Given the description of an element on the screen output the (x, y) to click on. 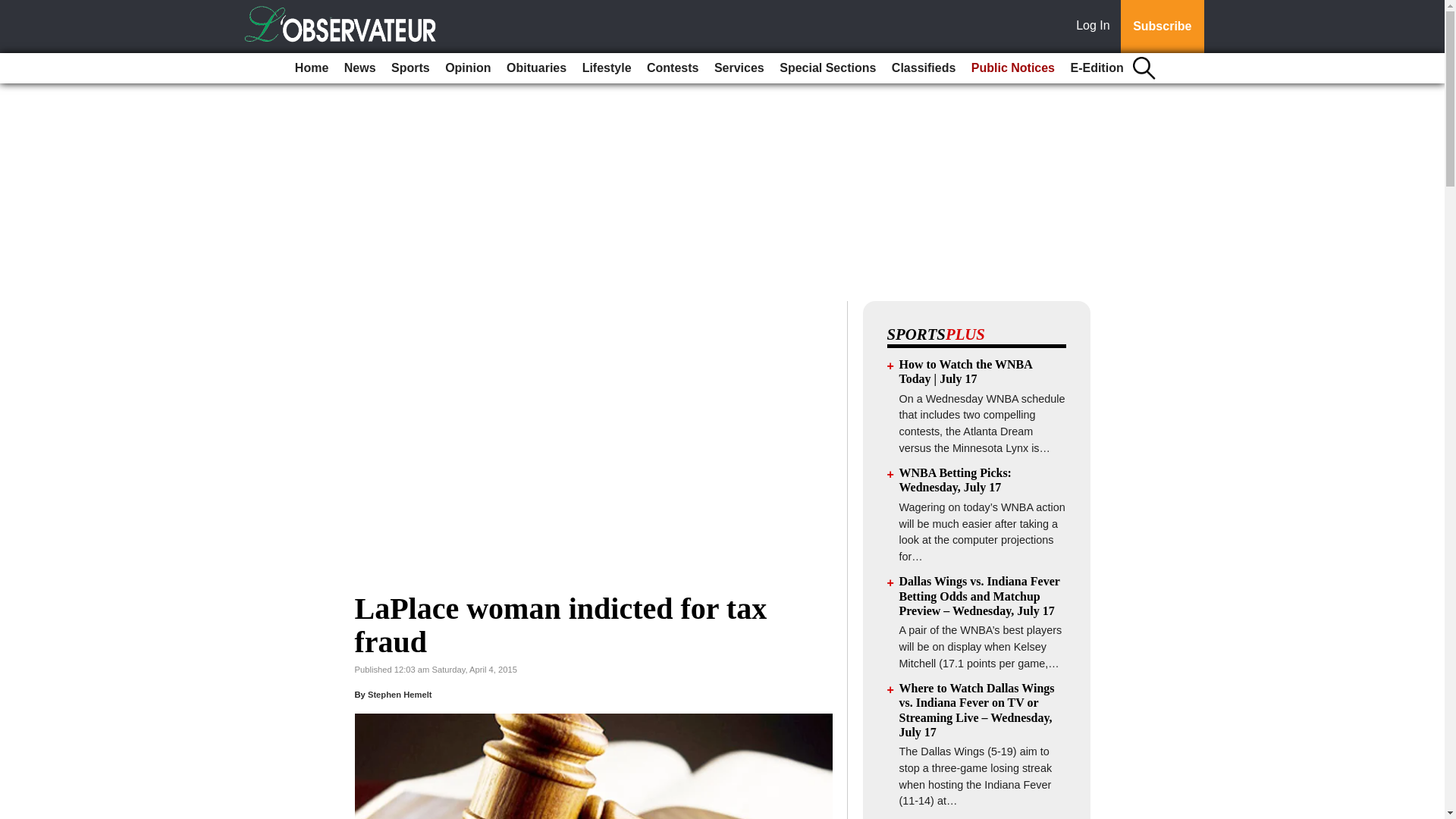
Classifieds (922, 68)
Public Notices (1013, 68)
Obituaries (536, 68)
Stephen Hemelt (400, 694)
Opinion (467, 68)
Contests (672, 68)
E-Edition (1096, 68)
WNBA Betting Picks: Wednesday, July 17 (955, 479)
Special Sections (827, 68)
Log In (1095, 26)
Home (311, 68)
Services (738, 68)
News (359, 68)
Lifestyle (606, 68)
Sports (410, 68)
